Given the description of an element on the screen output the (x, y) to click on. 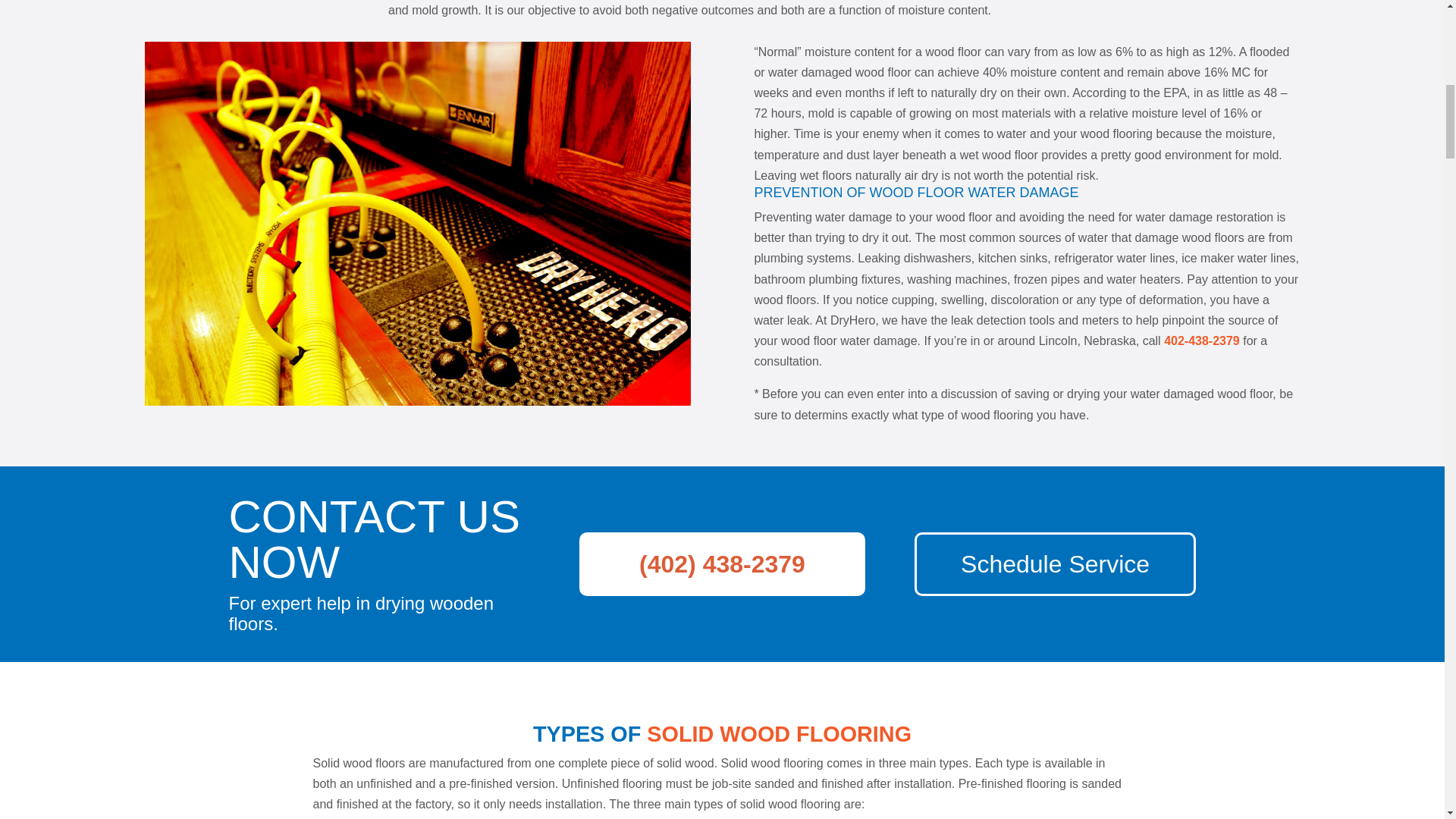
Schedule Service (1054, 564)
